Given the description of an element on the screen output the (x, y) to click on. 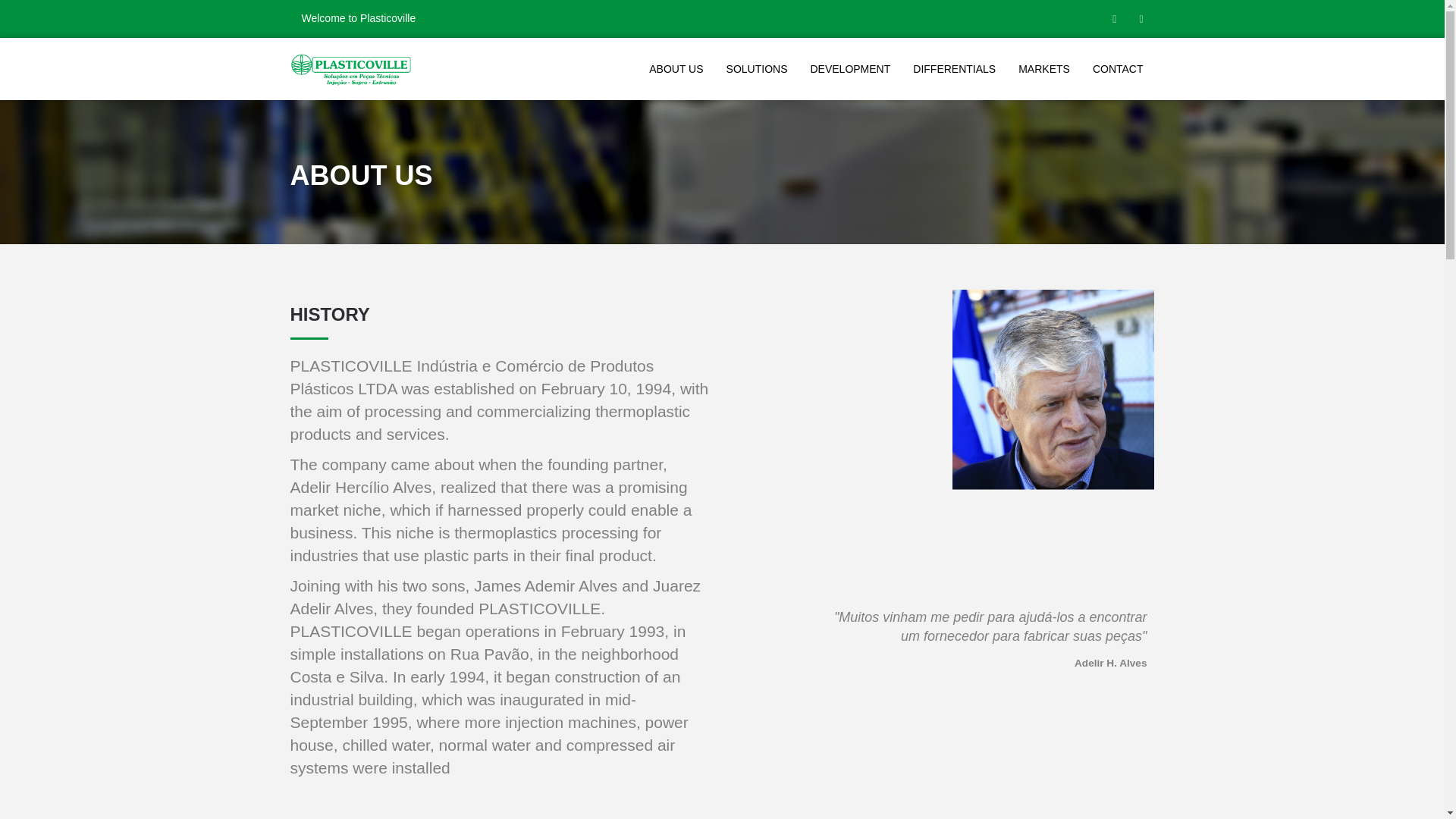
DEVELOPMENT (849, 68)
DIFFERENTIALS (953, 68)
Markets (1043, 68)
Contact (1117, 68)
SOLUTIONS (756, 68)
ABOUT US (676, 68)
About us (676, 68)
CONTACT (1117, 68)
Solutions (756, 68)
Differentials (953, 68)
